Given the description of an element on the screen output the (x, y) to click on. 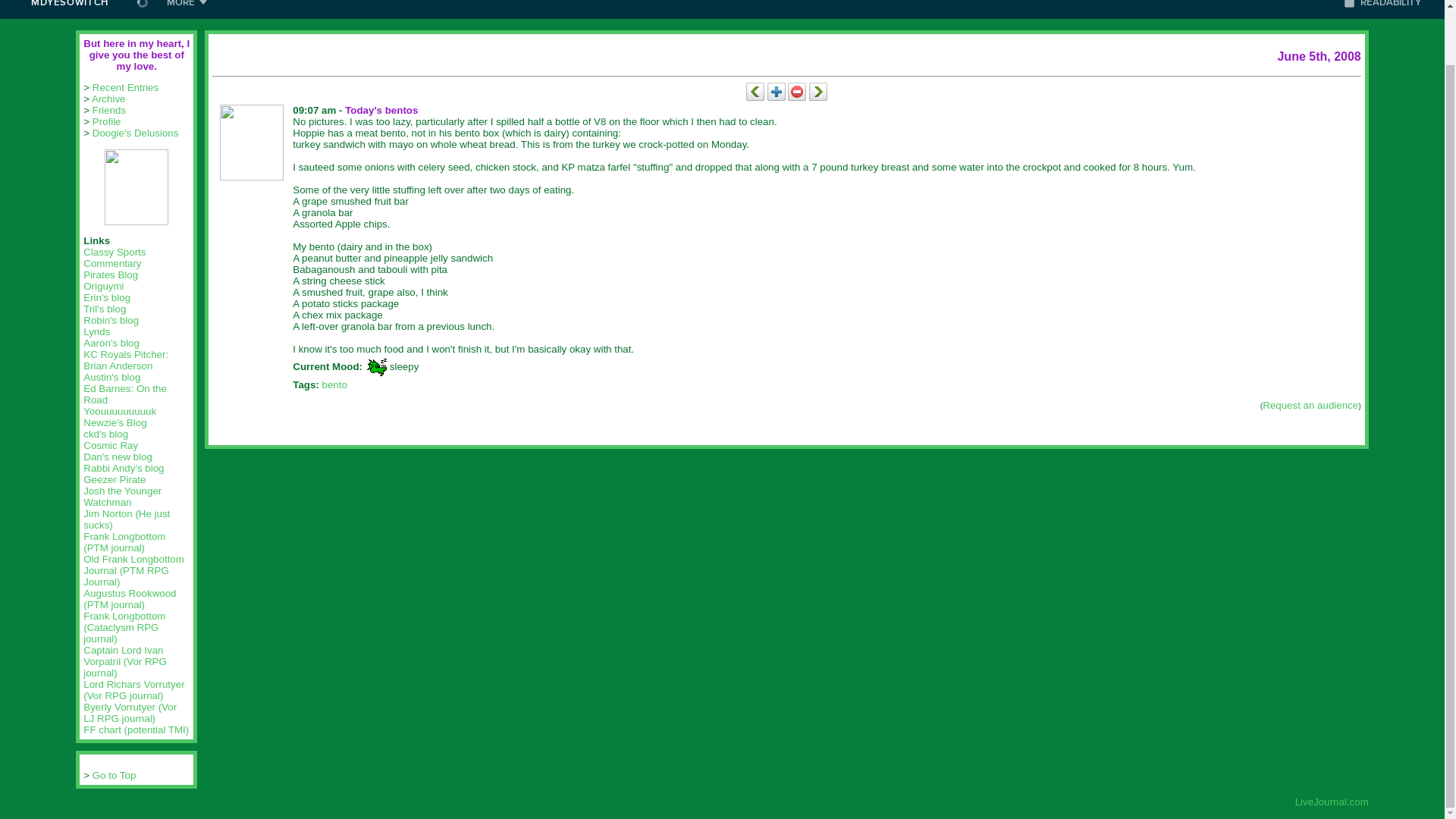
Previous Entry (754, 91)
MORE (186, 9)
on (1348, 3)
Flag (796, 91)
MDYESOWITCH (68, 9)
Share (776, 91)
Next Entry (818, 91)
